Given the description of an element on the screen output the (x, y) to click on. 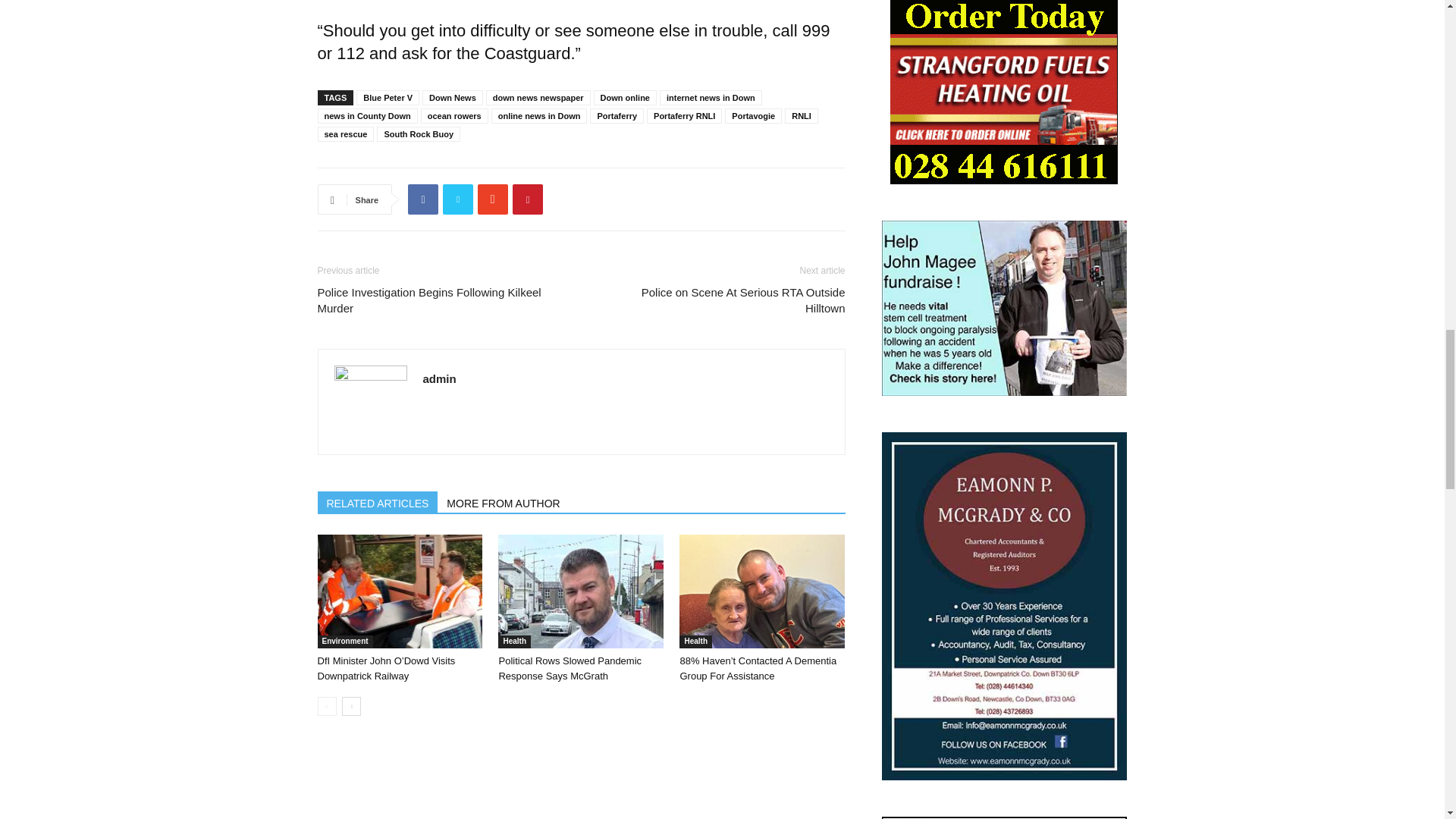
Political Rows Slowed Pandemic Response Says  McGrath (580, 591)
